Given the description of an element on the screen output the (x, y) to click on. 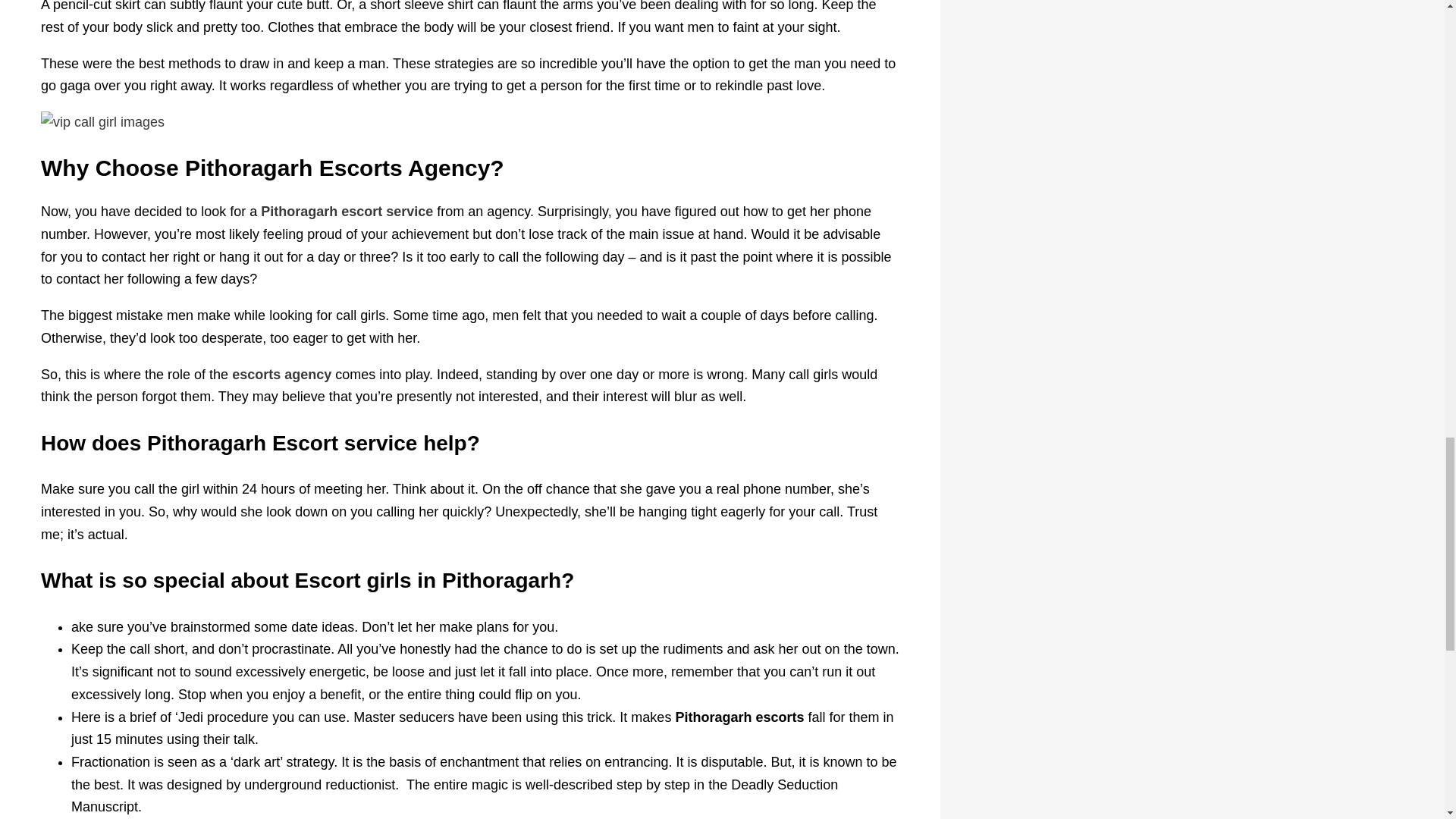
escorts agency (281, 374)
Pithoragarh escort service (346, 211)
